Given the description of an element on the screen output the (x, y) to click on. 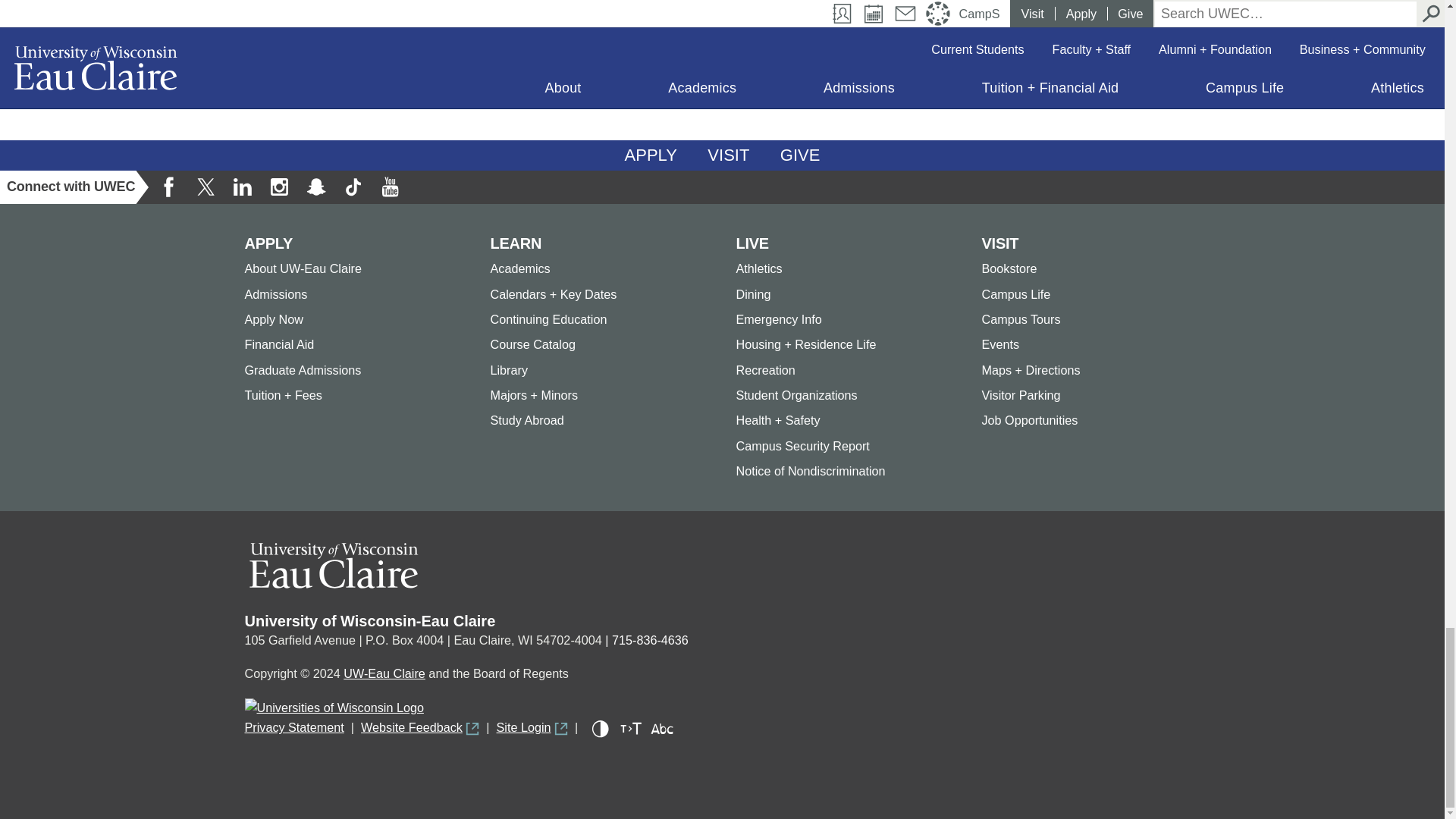
Follow us on Twitter (205, 186)
Apply Now (650, 155)
Snap with us on Snapchat (316, 186)
Follow us on TikTok (352, 186)
Follow us on Instagram (278, 186)
Connect with us on LinkedIn (242, 186)
Plan a Visit (728, 155)
Subscribe to our YouTube channel (389, 186)
Give Now (800, 155)
Like us on Facebook (169, 186)
